Given the description of an element on the screen output the (x, y) to click on. 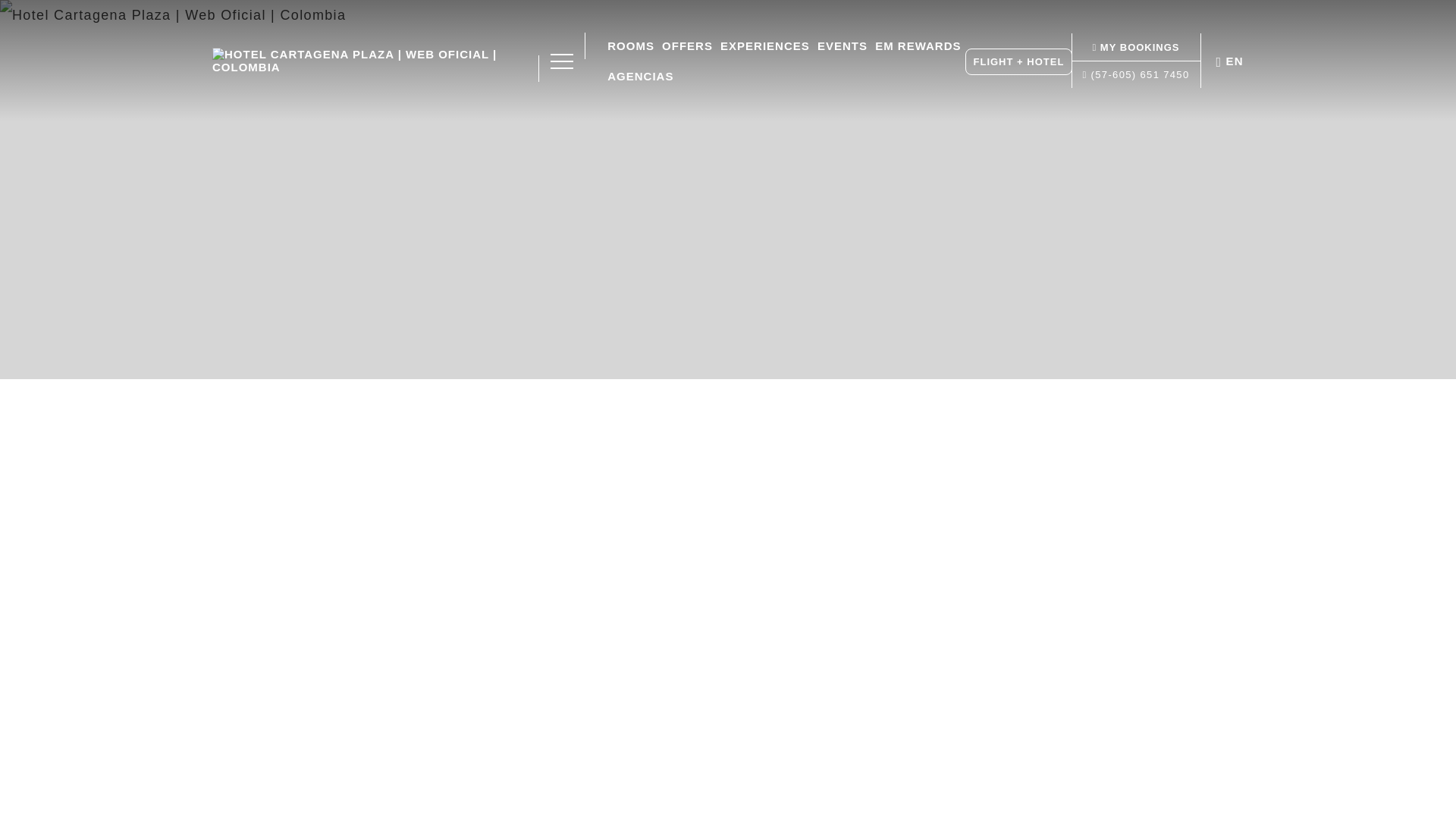
EXPERIENCES (766, 45)
AGENCIAS (639, 75)
ROOMS (632, 45)
OFFERS (689, 45)
MY BOOKINGS (1135, 47)
EVENTS (843, 45)
EM REWARDS (917, 45)
